Given the description of an element on the screen output the (x, y) to click on. 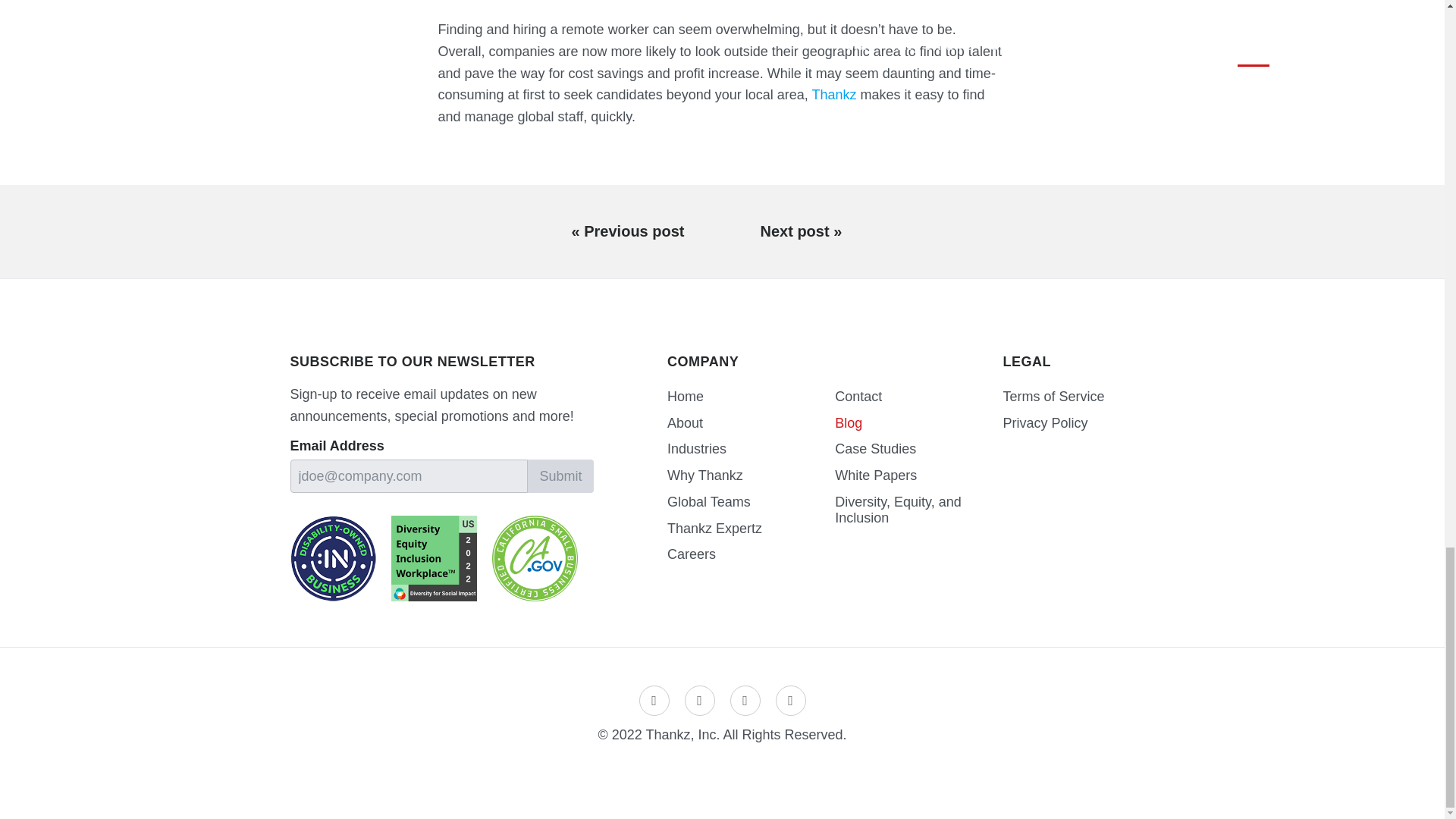
Global Teams (750, 501)
Careers (750, 554)
Home (750, 397)
Thankz (833, 94)
Industries (750, 448)
Why Thankz (750, 475)
Thankz Expertz (750, 528)
About (750, 423)
Submit (559, 476)
